Given the description of an element on the screen output the (x, y) to click on. 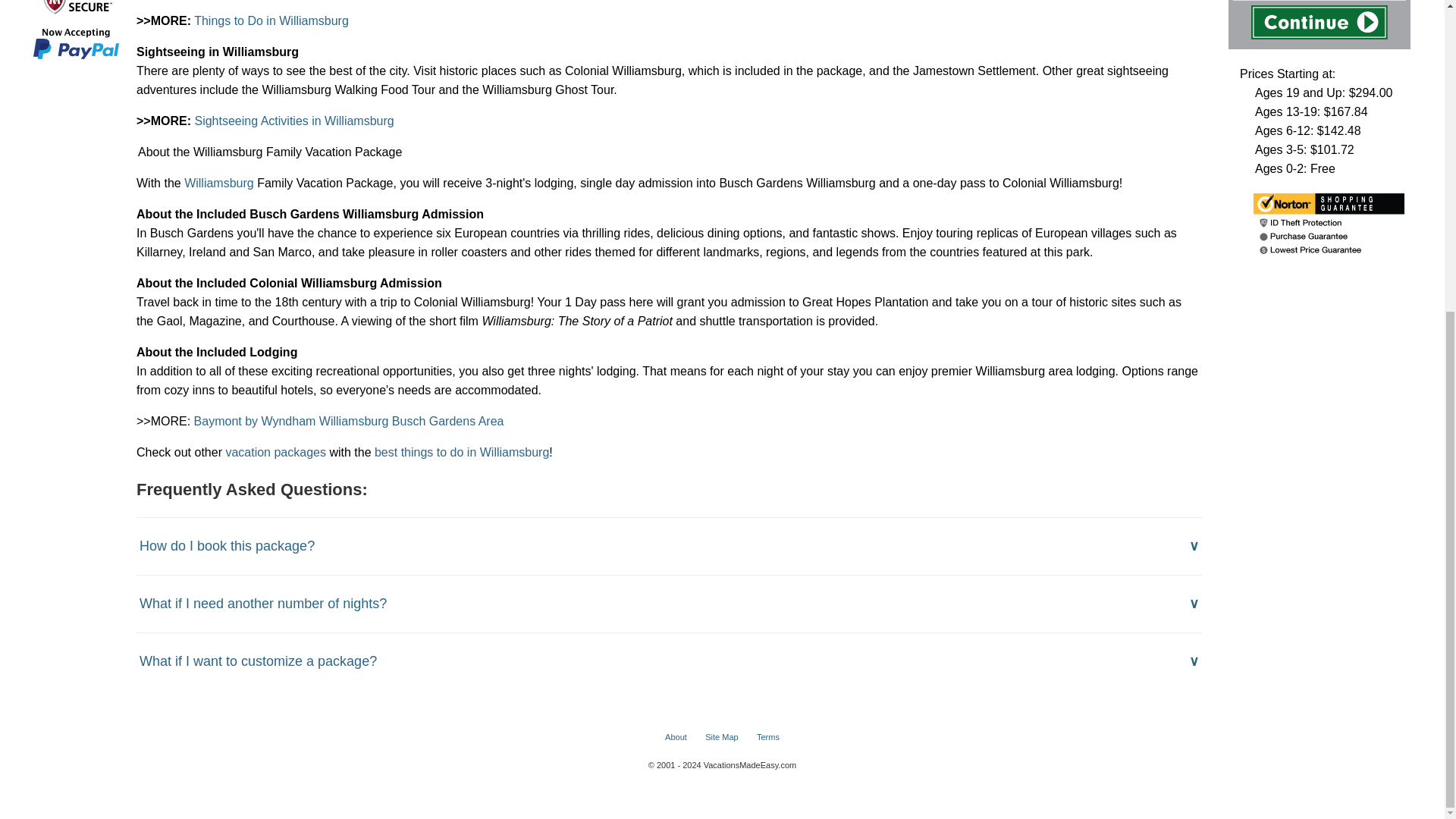
About (676, 737)
best things to do in Williamsburg (461, 451)
vacation packages (275, 451)
What if I want to customize a package? (669, 661)
Sightseeing Activities in Williamsburg (293, 120)
What if I need another number of nights? (669, 603)
Site Map (721, 737)
Williamsburg (220, 182)
Things to Do in Williamsburg (271, 20)
How do I book this package? (669, 546)
Terms (767, 737)
Baymont by Wyndham Williamsburg Busch Gardens Area (348, 420)
